Given the description of an element on the screen output the (x, y) to click on. 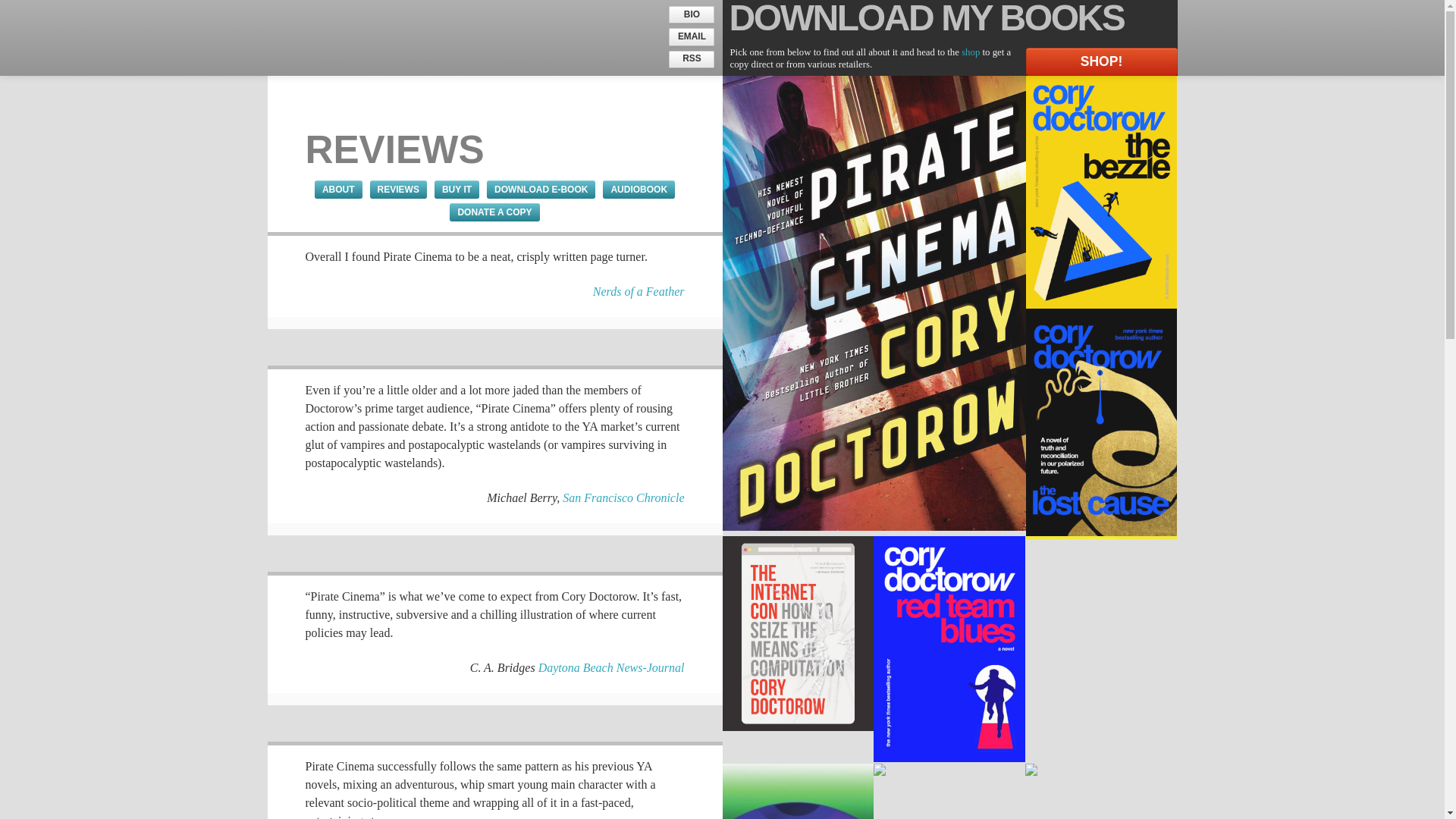
EMAIL (691, 36)
BIO (691, 14)
RSS (691, 58)
